Given the description of an element on the screen output the (x, y) to click on. 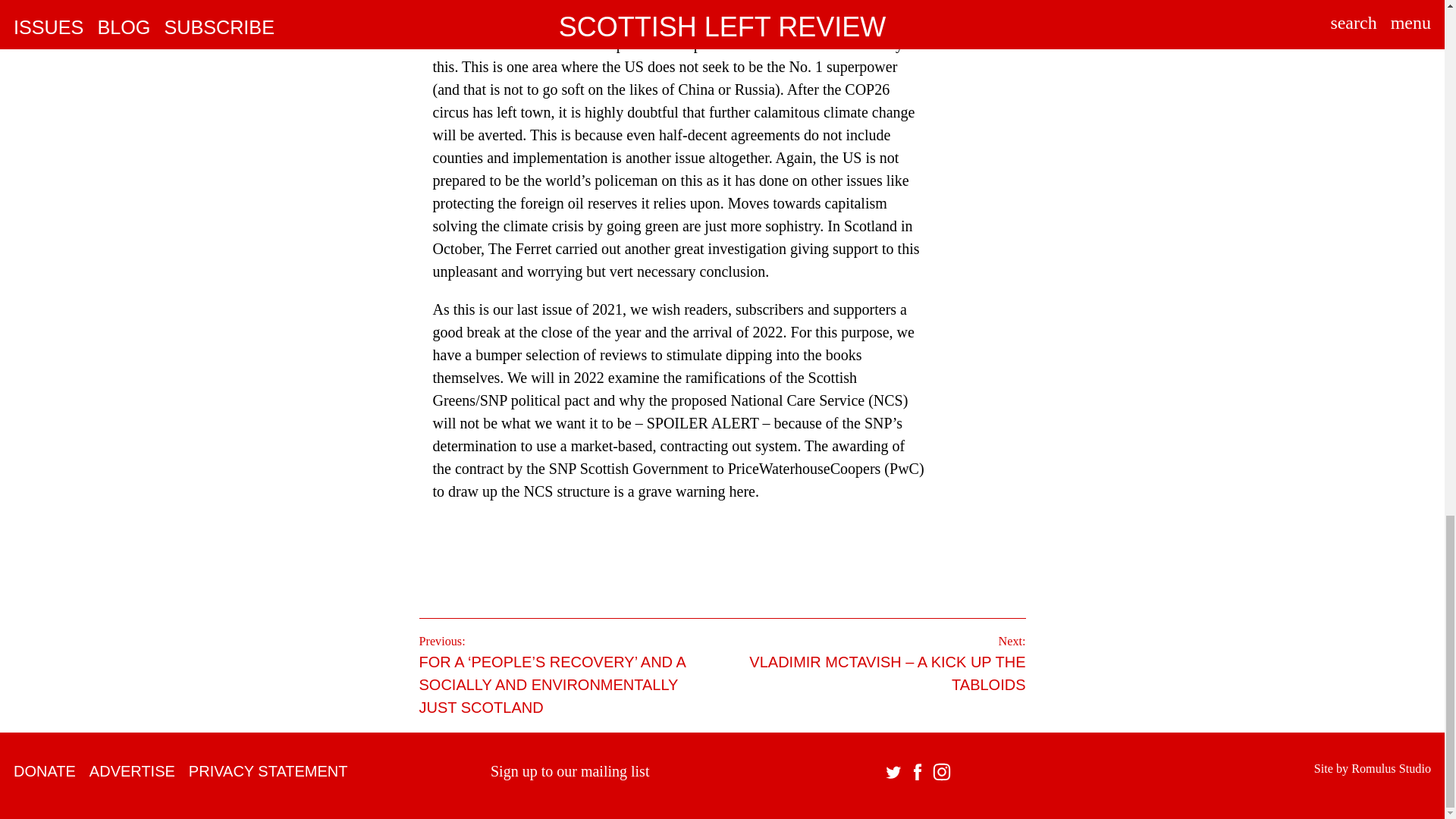
ADVERTISE (131, 770)
Romulus Studio (1391, 768)
DONATE (44, 770)
PRIVACY STATEMENT (268, 770)
